Given the description of an element on the screen output the (x, y) to click on. 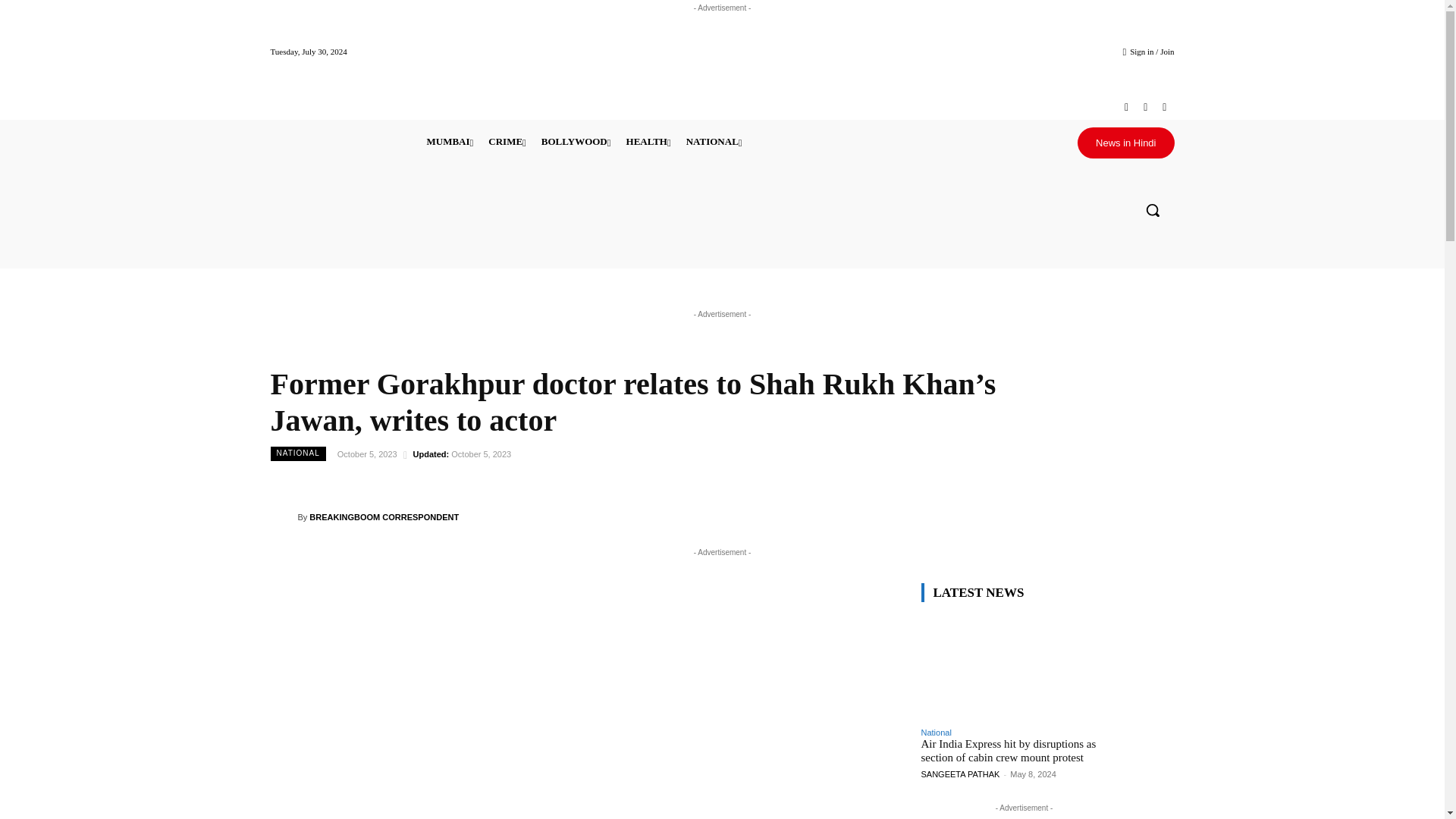
Youtube (1163, 107)
Twitter (1144, 107)
Facebook (1125, 107)
MUMBAI (449, 141)
